Given the description of an element on the screen output the (x, y) to click on. 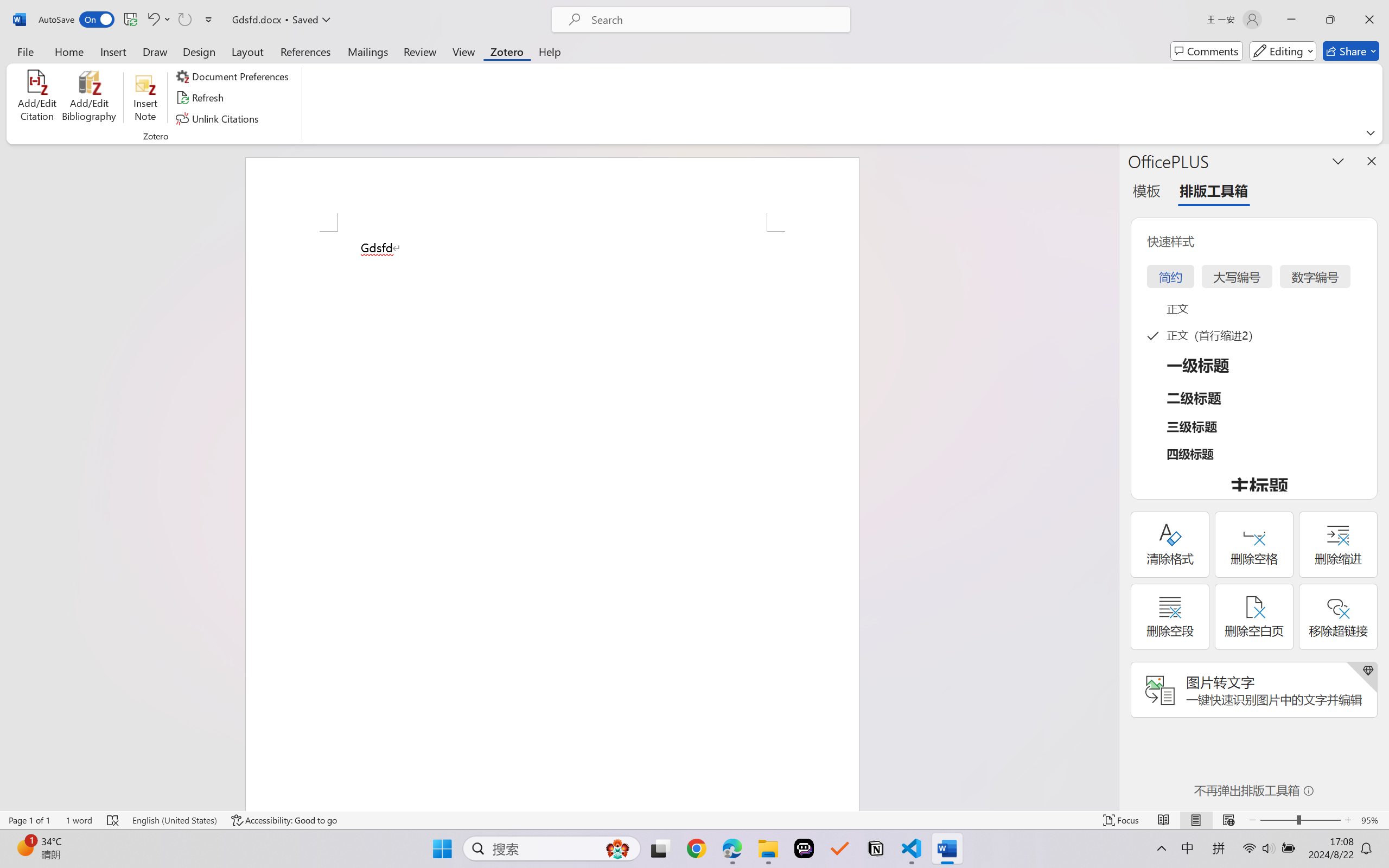
Class: MsoCommandBar (694, 819)
Add/Edit Citation (37, 97)
